Given the description of an element on the screen output the (x, y) to click on. 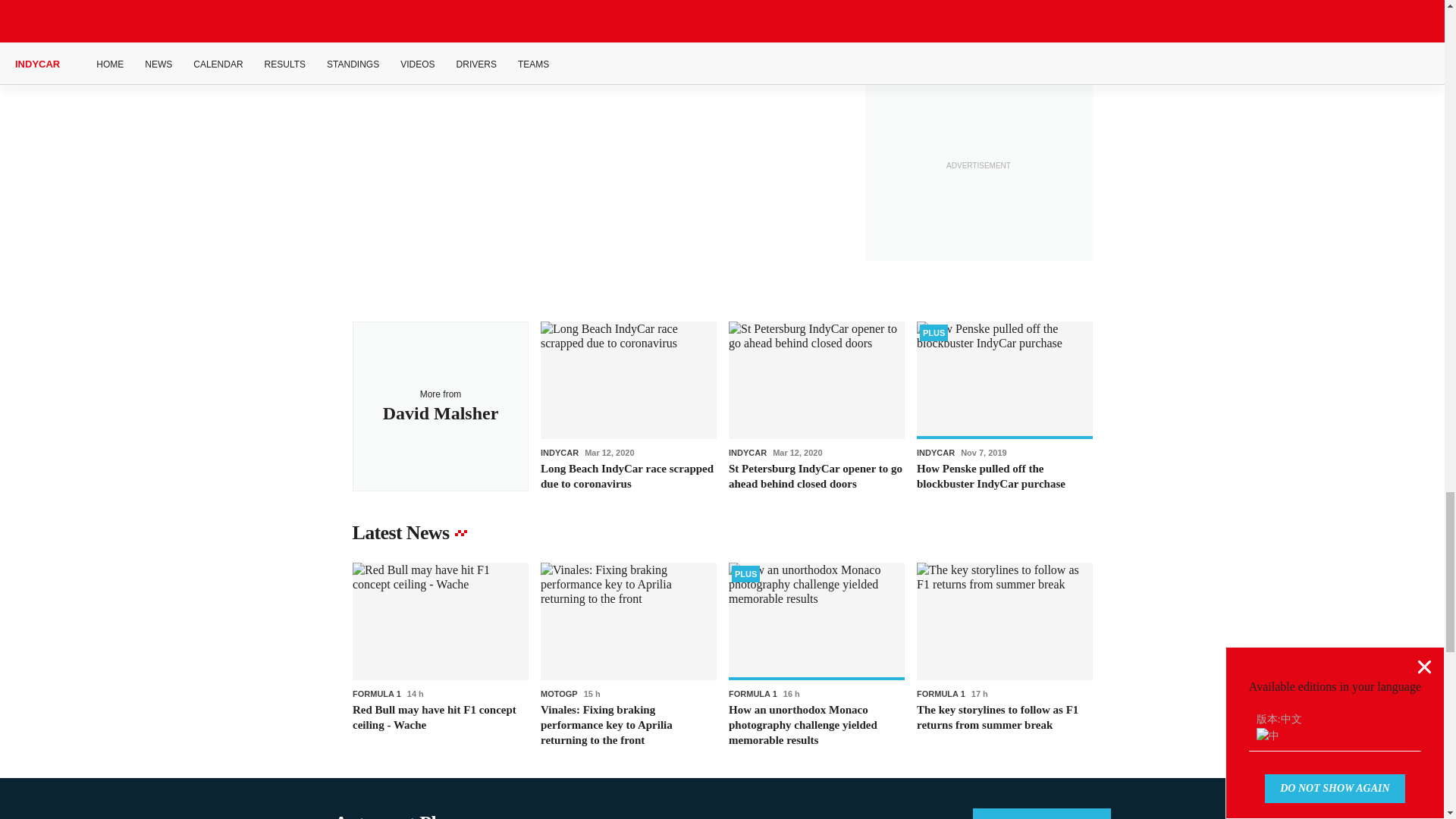
Red Bull may have hit F1 concept ceiling - Wache (439, 654)
How Penske pulled off the blockbuster IndyCar purchase (1003, 406)
Long Beach IndyCar race scrapped due to coronavirus (628, 406)
St Petersburg IndyCar opener to go ahead behind closed doors (816, 406)
The key storylines to follow as F1 returns from summer break (1003, 654)
